Given the description of an element on the screen output the (x, y) to click on. 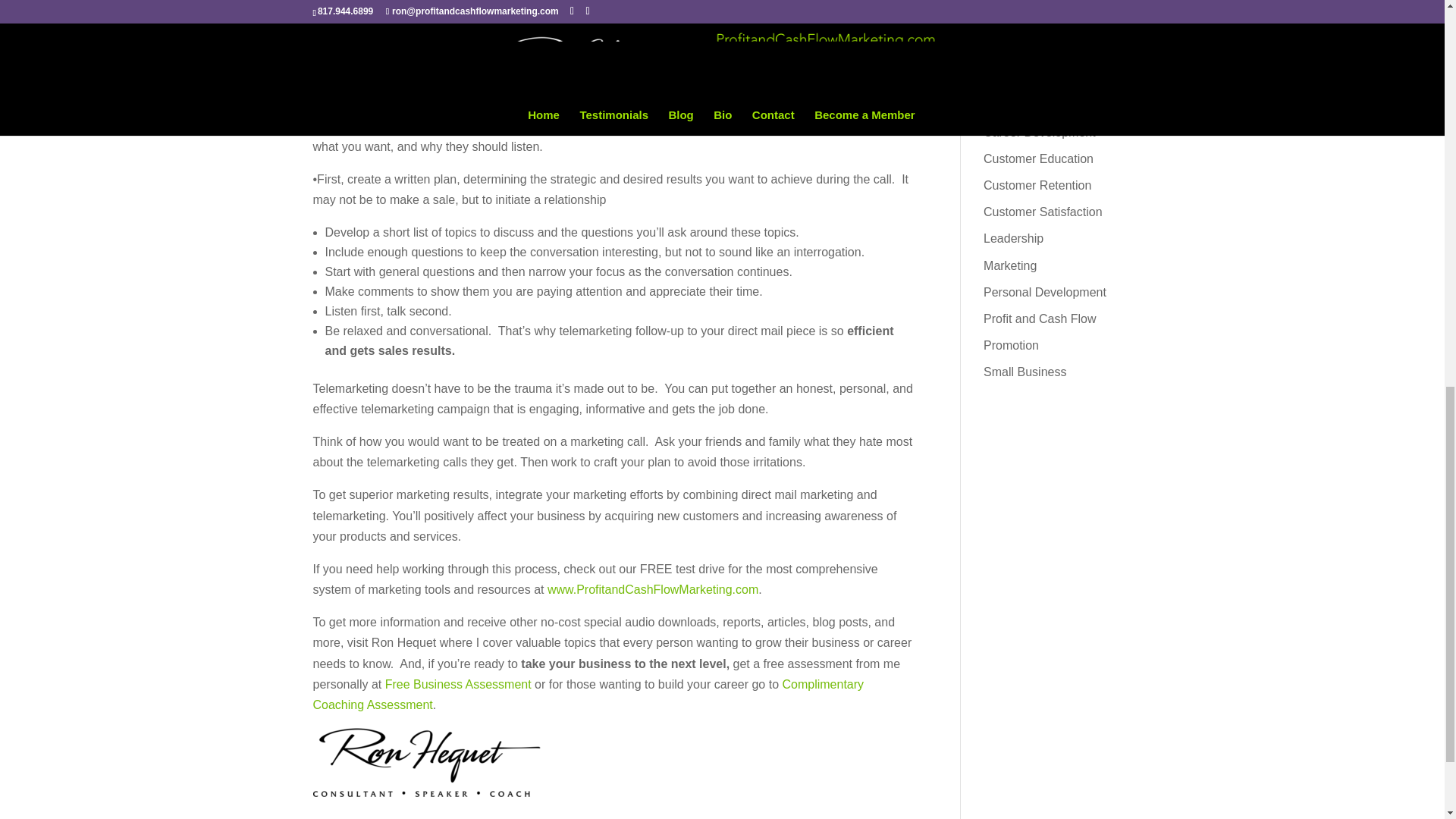
February 2017 (1023, 13)
Career Development (1040, 132)
Free Business Assessment (458, 684)
Business Planning (1033, 104)
Complimentary Coaching Assessment (588, 694)
www.ProfitandCashFlowMarketing.com (652, 589)
Customer Education (1038, 158)
Business Development (1046, 78)
